Given the description of an element on the screen output the (x, y) to click on. 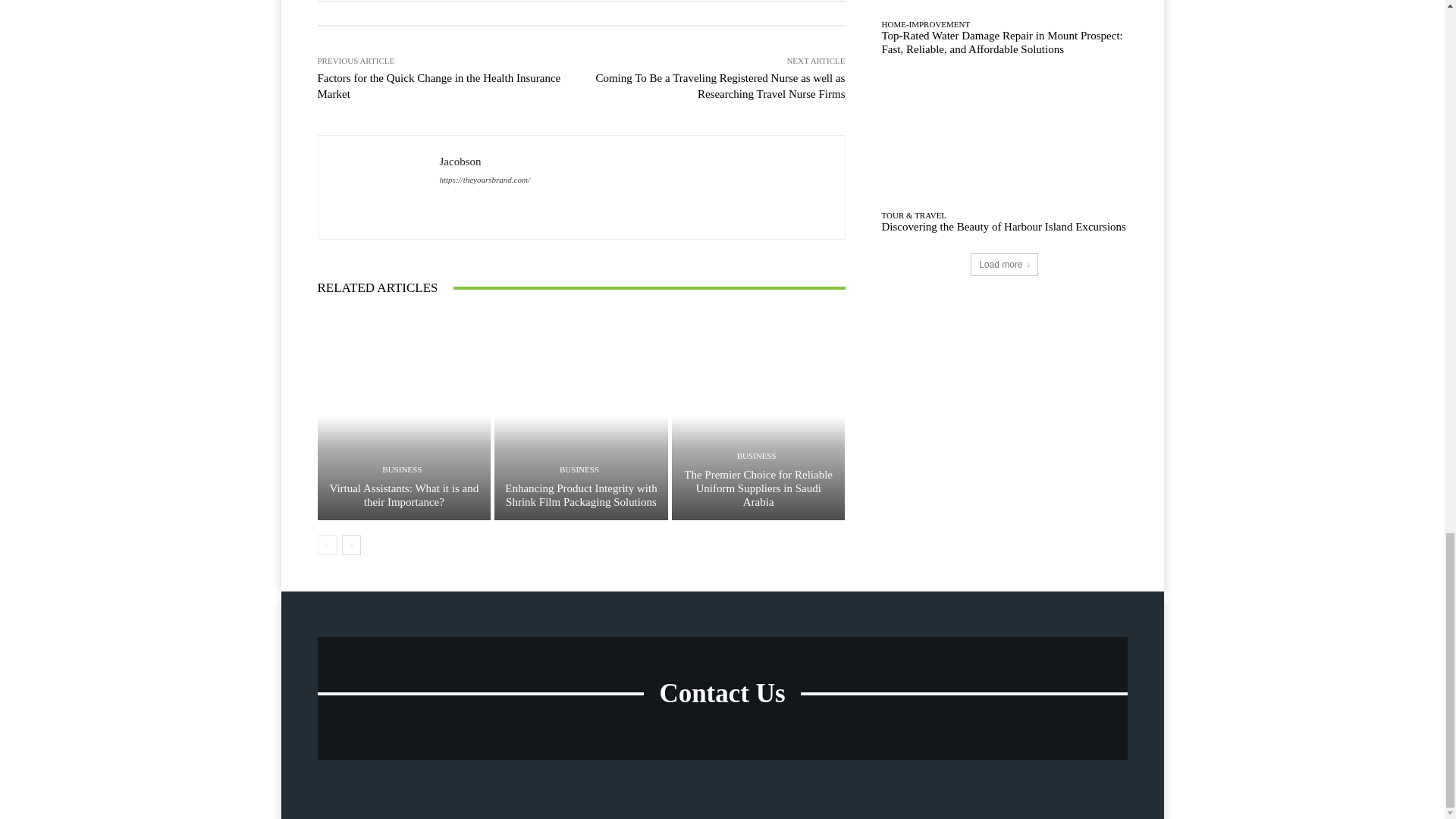
Factors for the Quick Change in the Health Insurance Market (438, 85)
Jacobson (379, 186)
Virtual Assistants: What it is and their Importance? (404, 494)
